Given the description of an element on the screen output the (x, y) to click on. 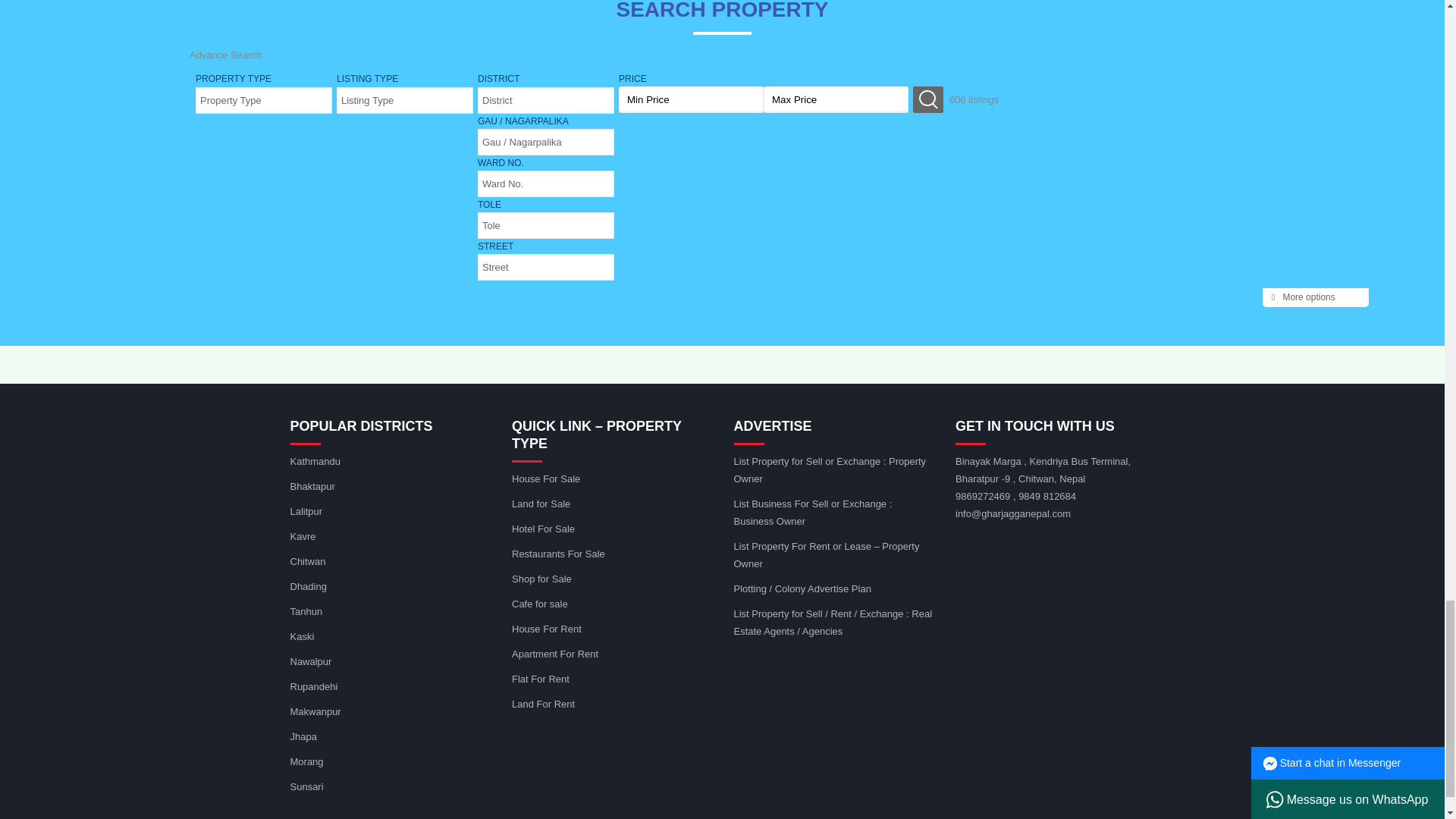
Search (927, 99)
District (545, 100)
Ward No. (545, 183)
Property Type (263, 100)
Search (927, 99)
Tole (545, 225)
Street  (545, 267)
Listing Type (404, 100)
